Given the description of an element on the screen output the (x, y) to click on. 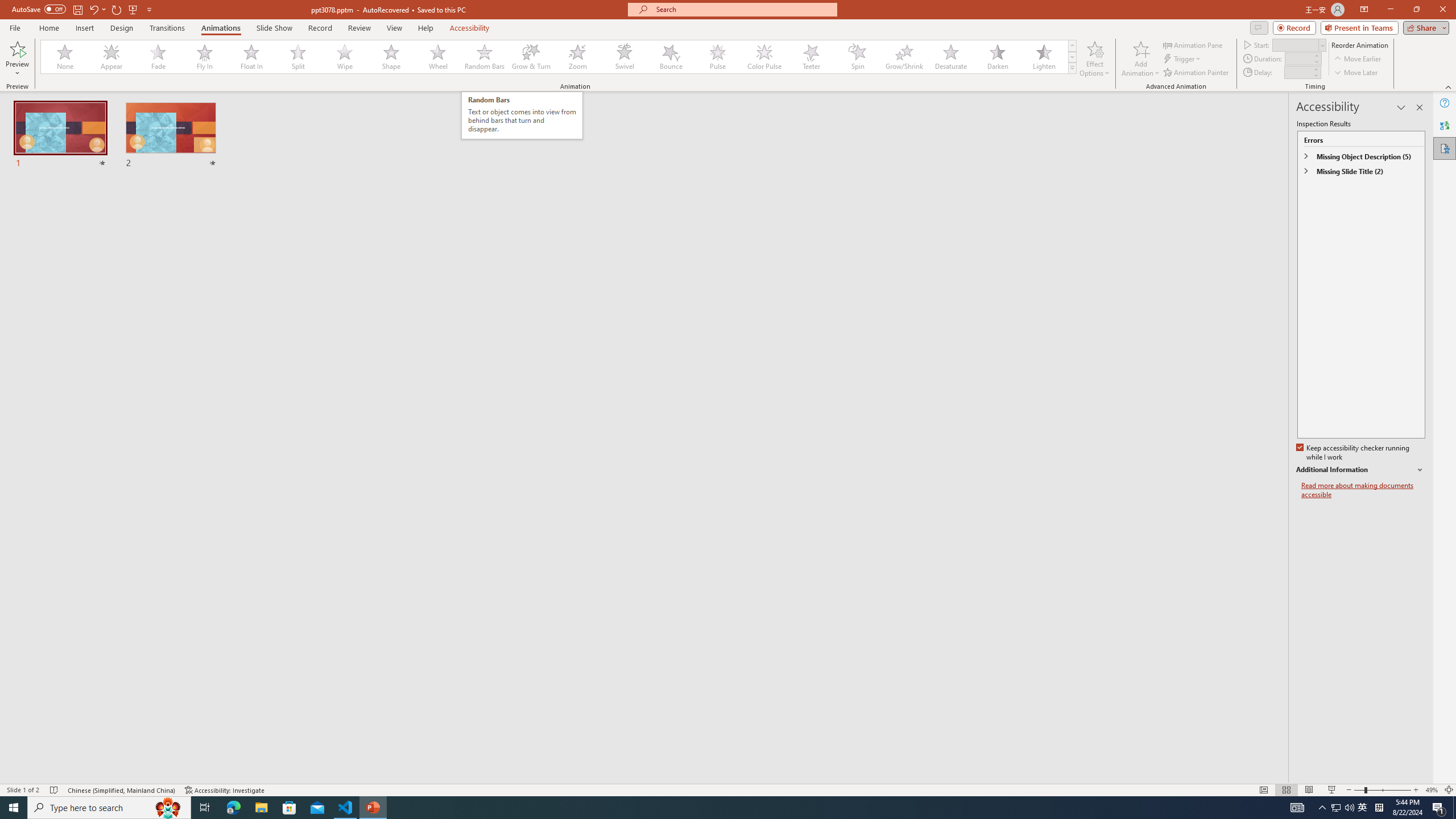
Add Animation (1141, 58)
Bounce (670, 56)
Appear (111, 56)
Wheel (437, 56)
Animation Pane (1193, 44)
Lighten (1043, 56)
